Given the description of an element on the screen output the (x, y) to click on. 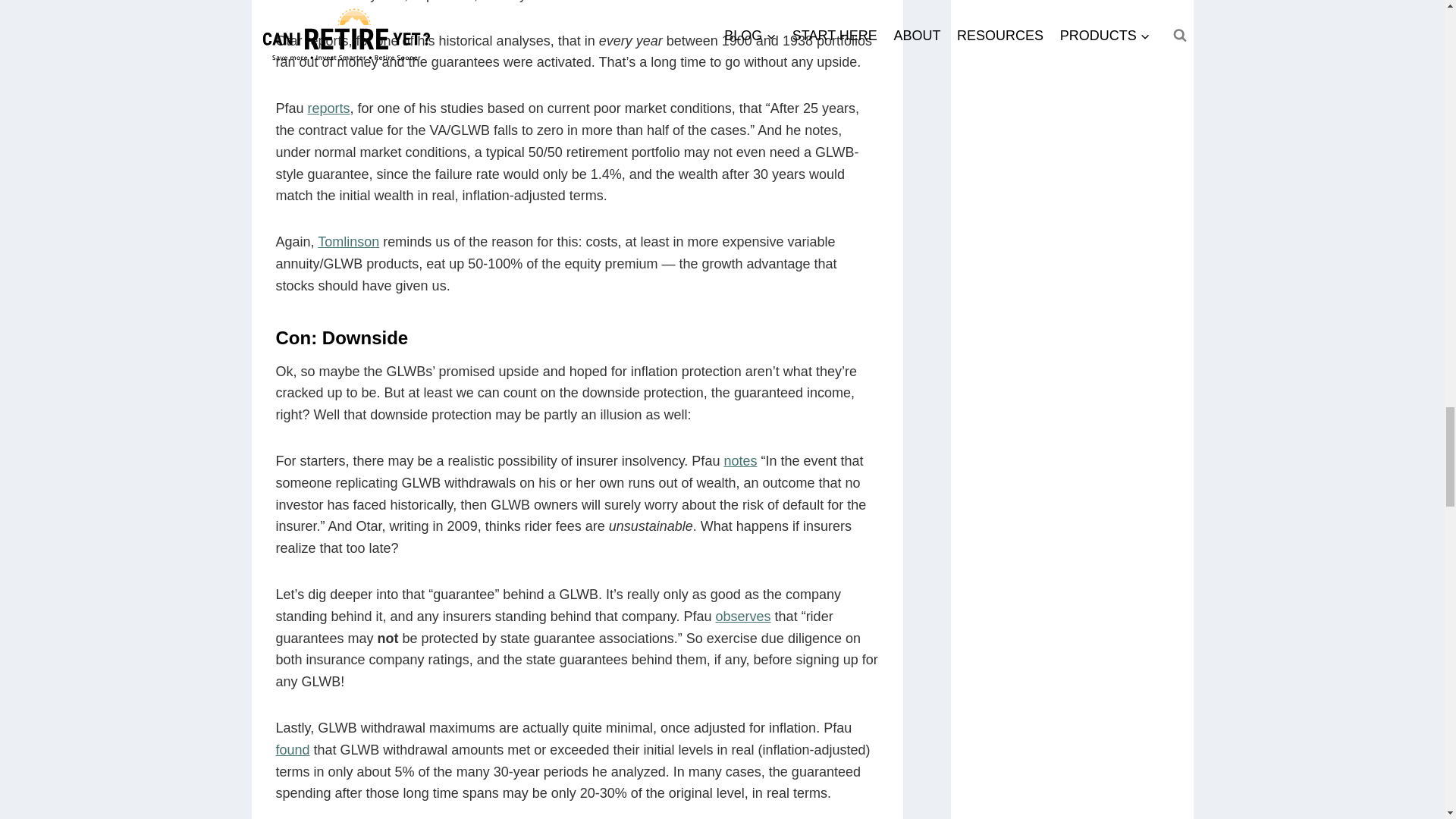
Tomlinson (347, 241)
found (293, 749)
observes (743, 616)
notes (740, 460)
reports (328, 108)
